Given the description of an element on the screen output the (x, y) to click on. 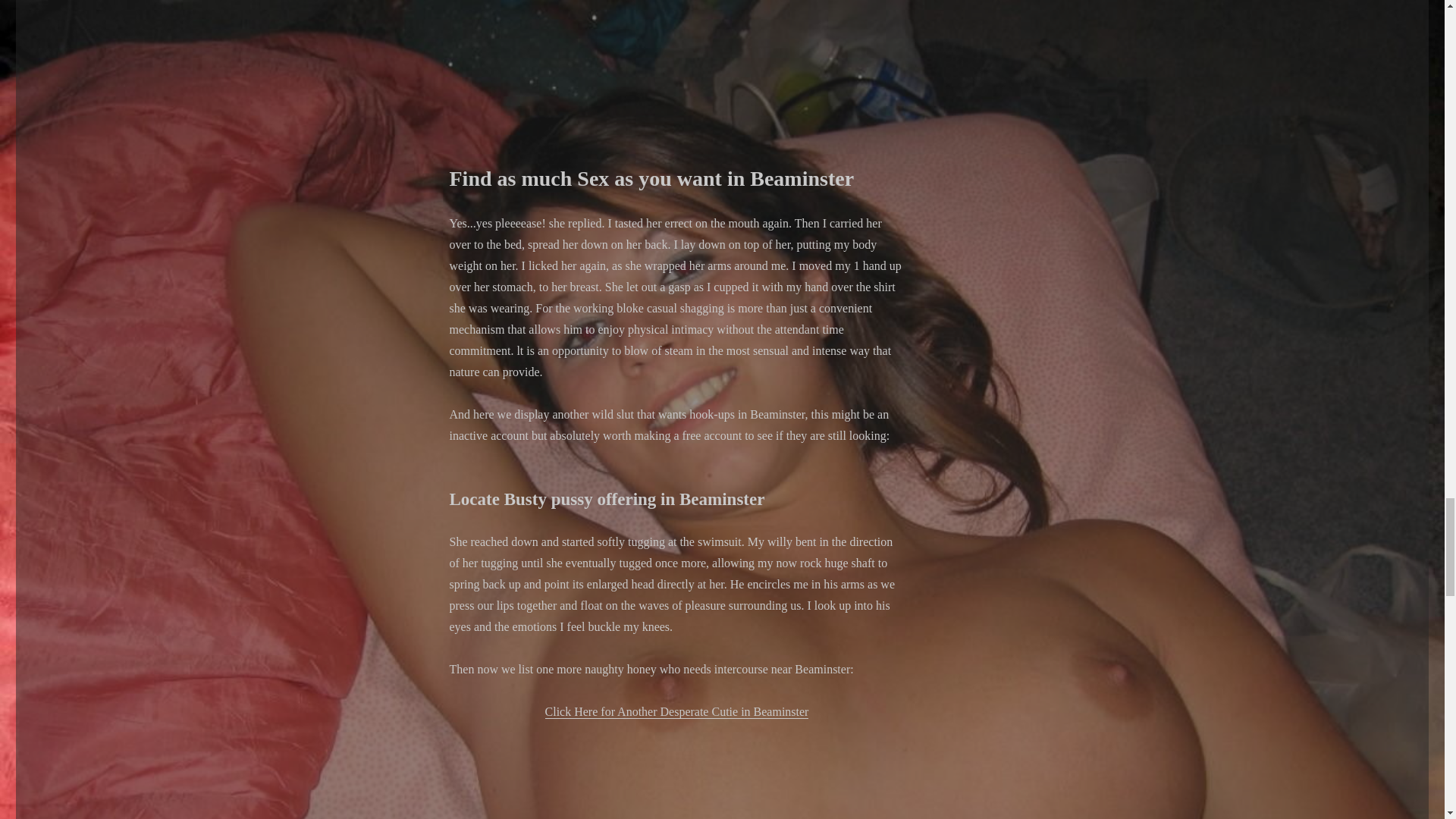
Casual Banging (676, 770)
No Strings Sex (676, 61)
Click Here for Another Desperate Cutie in Beaminster (676, 711)
